Given the description of an element on the screen output the (x, y) to click on. 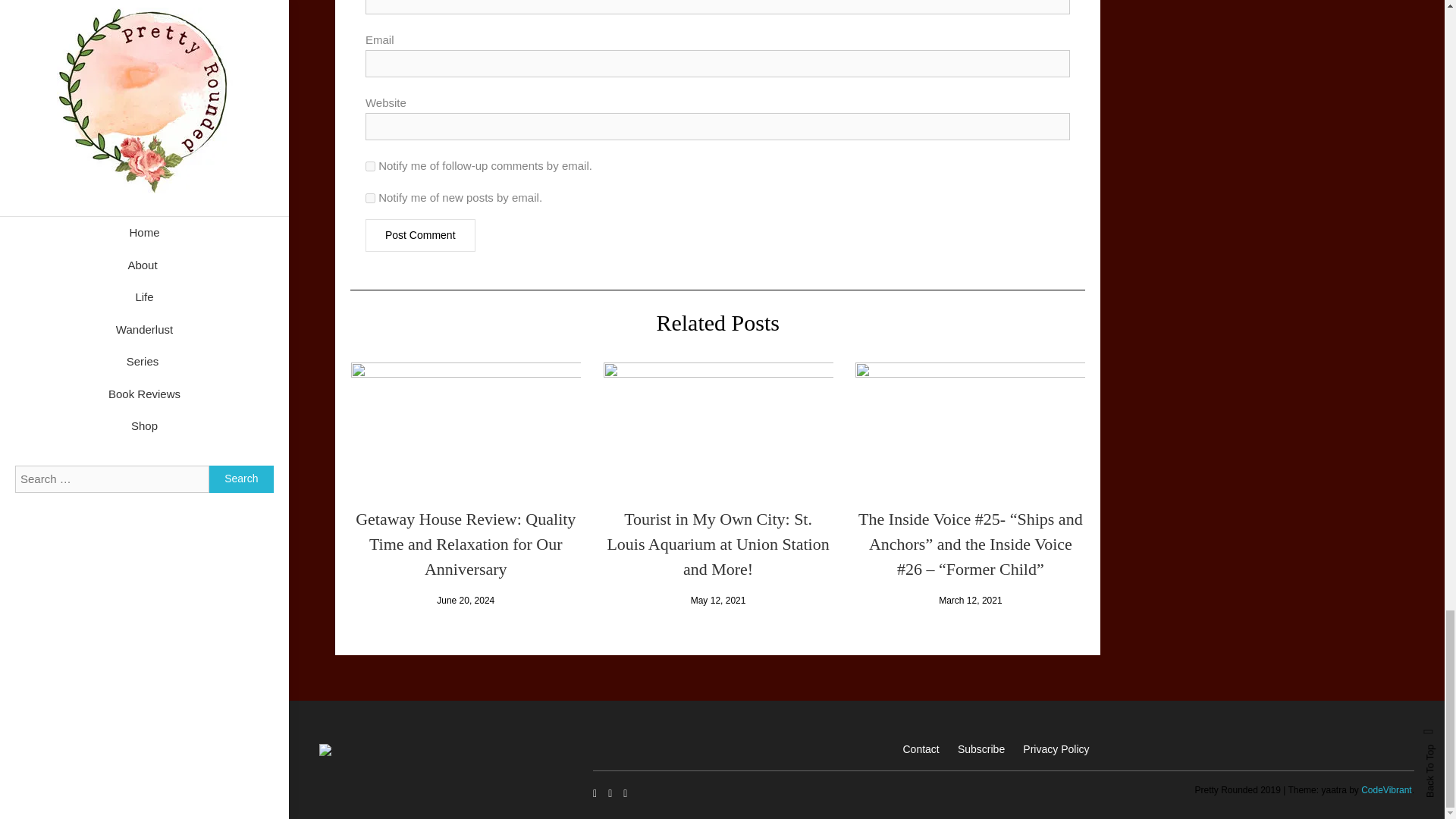
subscribe (370, 198)
Post Comment (420, 235)
subscribe (370, 166)
